Given the description of an element on the screen output the (x, y) to click on. 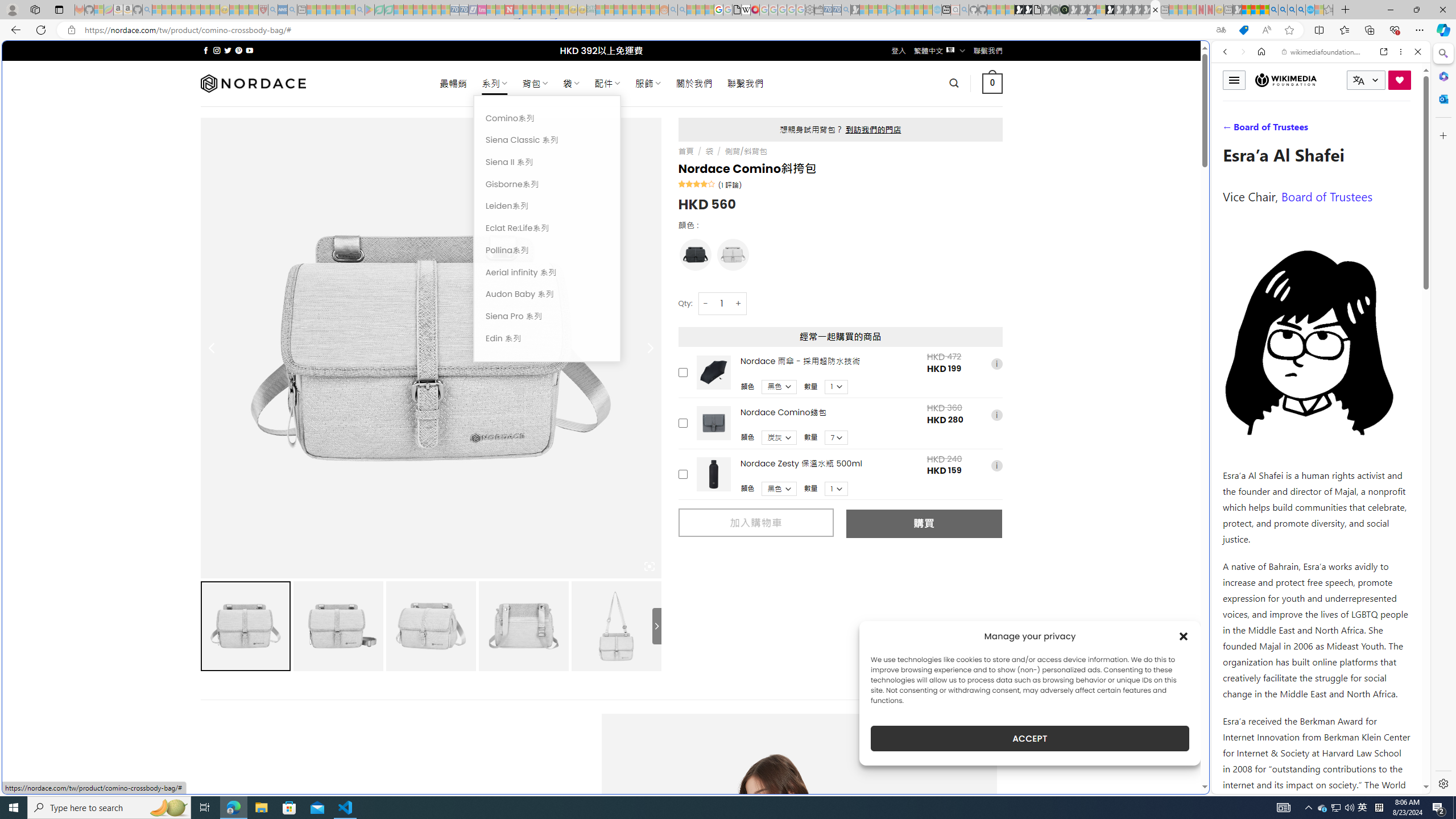
14 Common Myths Debunked By Scientific Facts - Sleeping (527, 9)
Target page - Wikipedia (745, 9)
Home | Sky Blue Bikes - Sky Blue Bikes (1118, 242)
i (996, 465)
Search the web (1326, 78)
2009 Bing officially replaced Live Search on June 3 - Search (1283, 9)
